Given the description of an element on the screen output the (x, y) to click on. 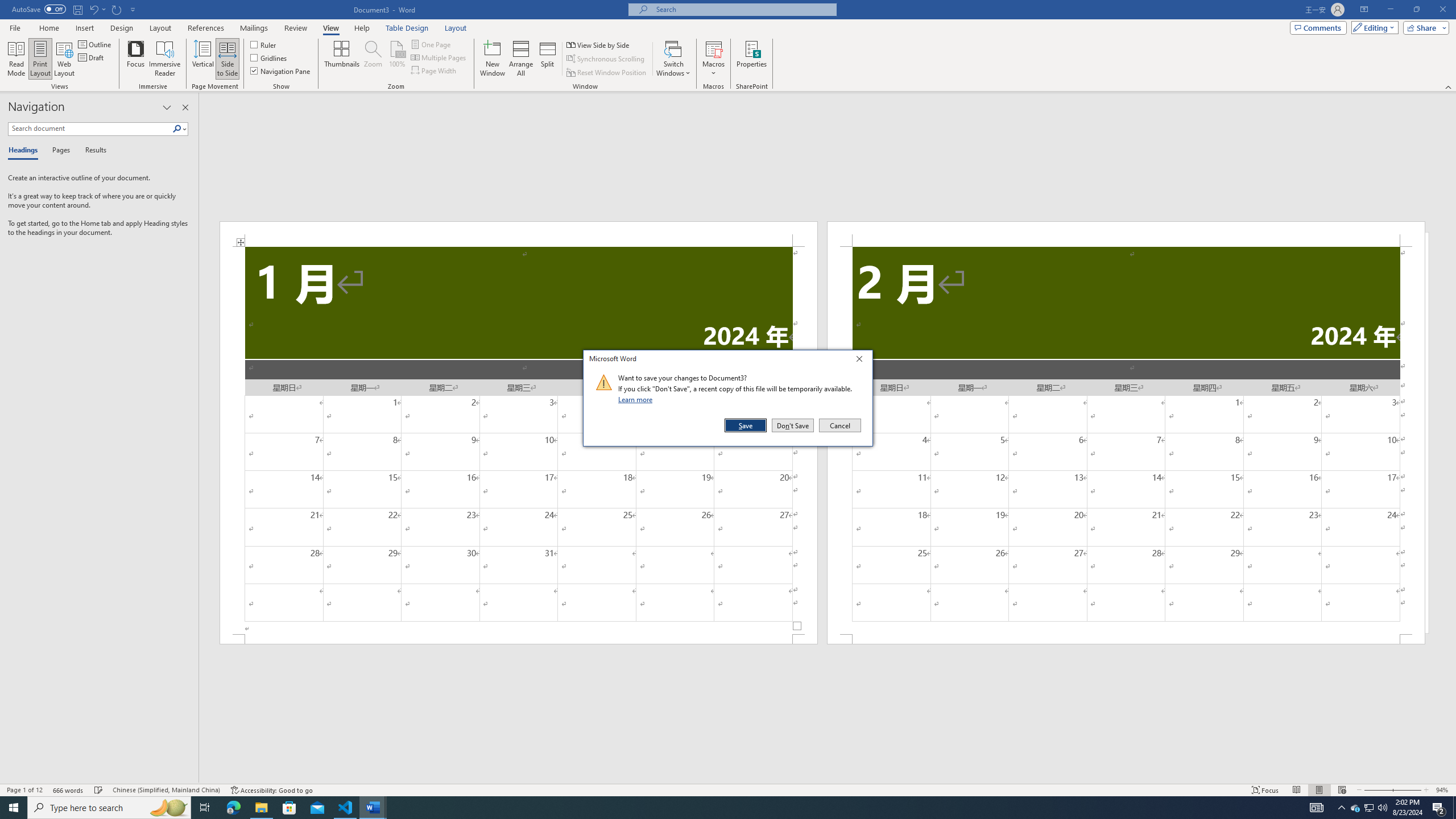
Synchronous Scrolling (605, 58)
